Given the description of an element on the screen output the (x, y) to click on. 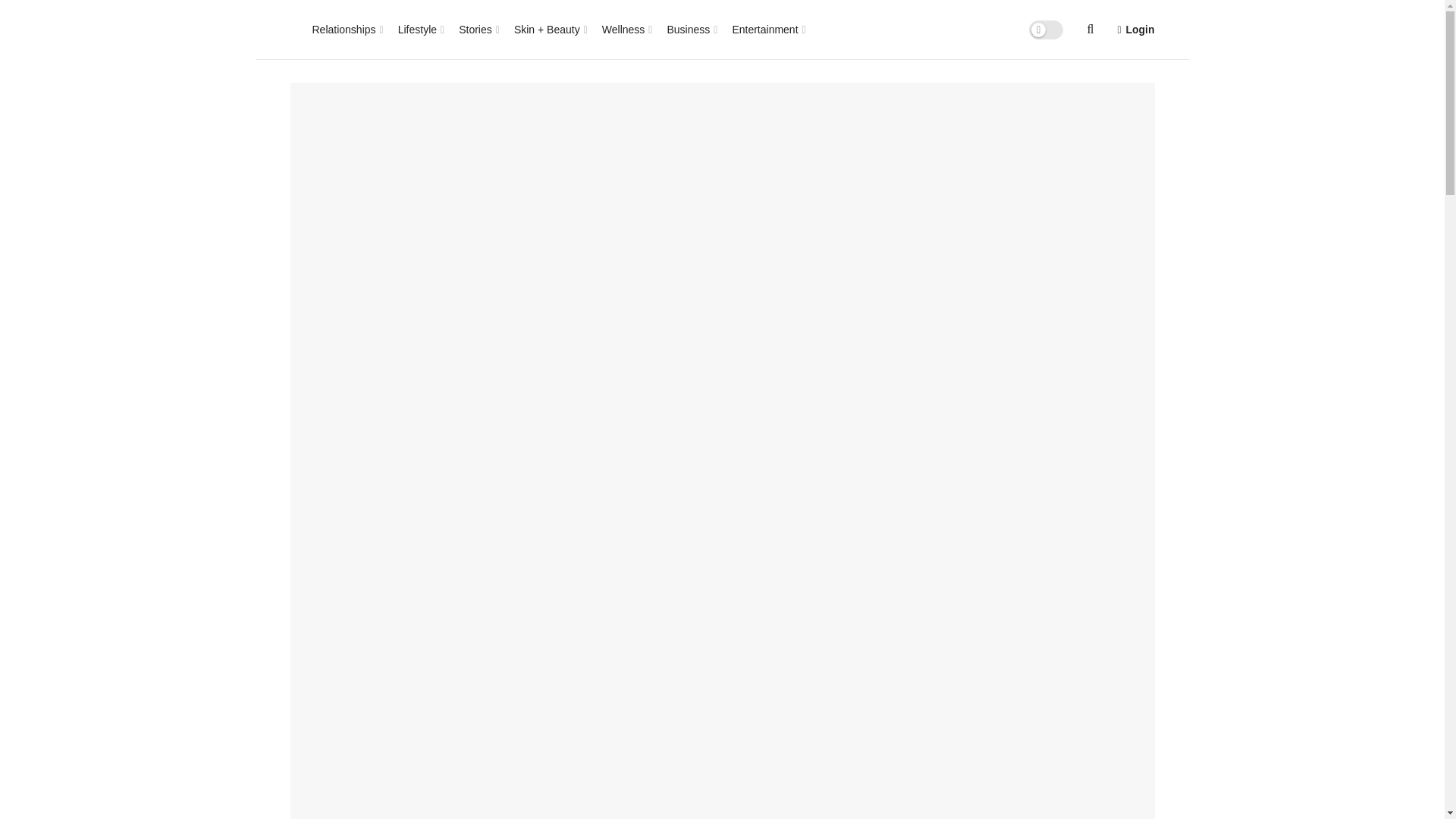
Relationships (347, 29)
Stories (477, 29)
Lifestyle (419, 29)
Wellness (626, 29)
Business (690, 29)
Entertainment (767, 29)
